Given the description of an element on the screen output the (x, y) to click on. 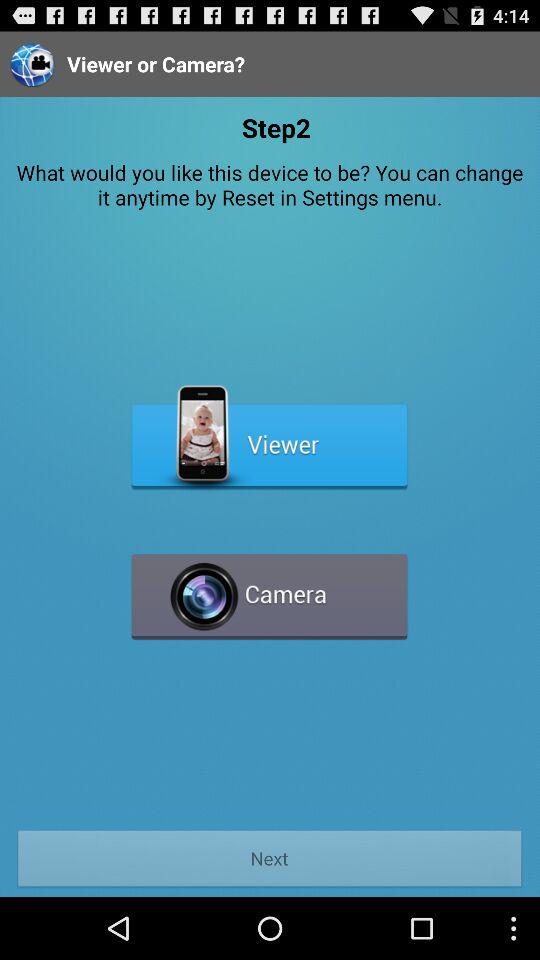
open viewer (269, 438)
